Given the description of an element on the screen output the (x, y) to click on. 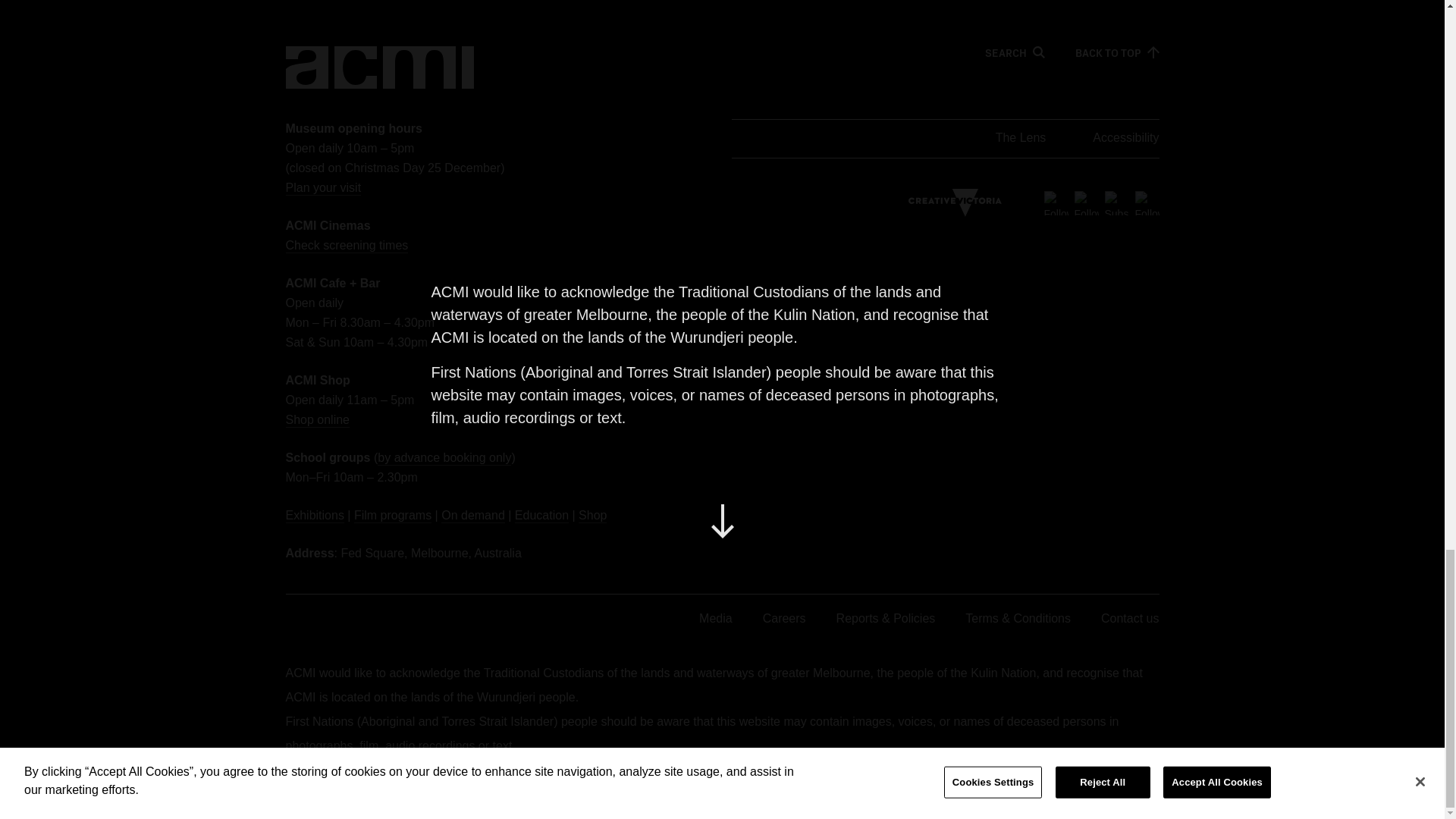
Follow ACMI on Instagram (1146, 202)
View Creative Victoria website (954, 203)
Follow ACMI on X (1055, 202)
Follow ACMI on Facebook (1085, 202)
Subscribe to ACMI's YouTube channel (1115, 202)
